Given the description of an element on the screen output the (x, y) to click on. 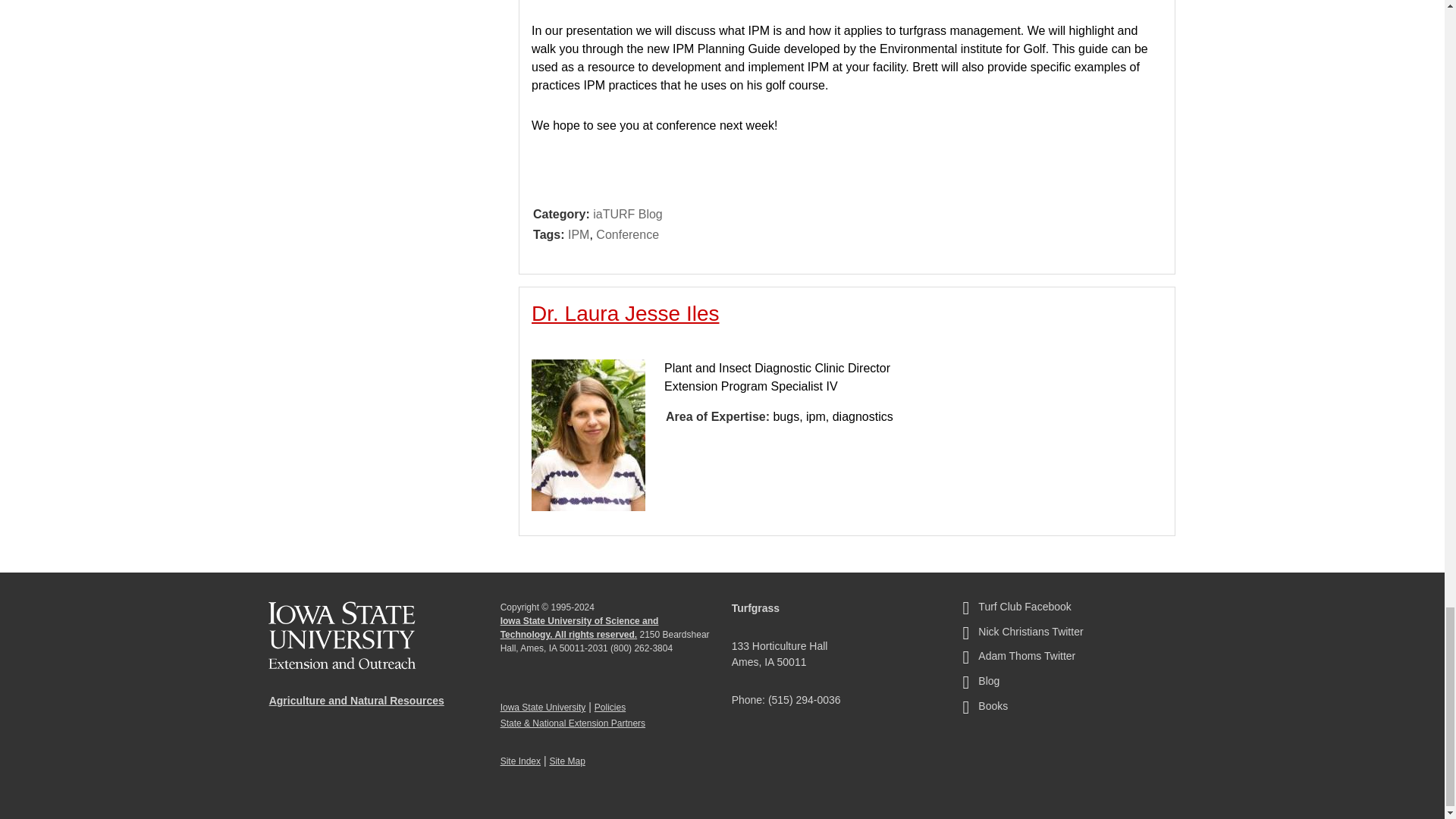
Dr. Laura  Jesse Iles (625, 313)
